Given the description of an element on the screen output the (x, y) to click on. 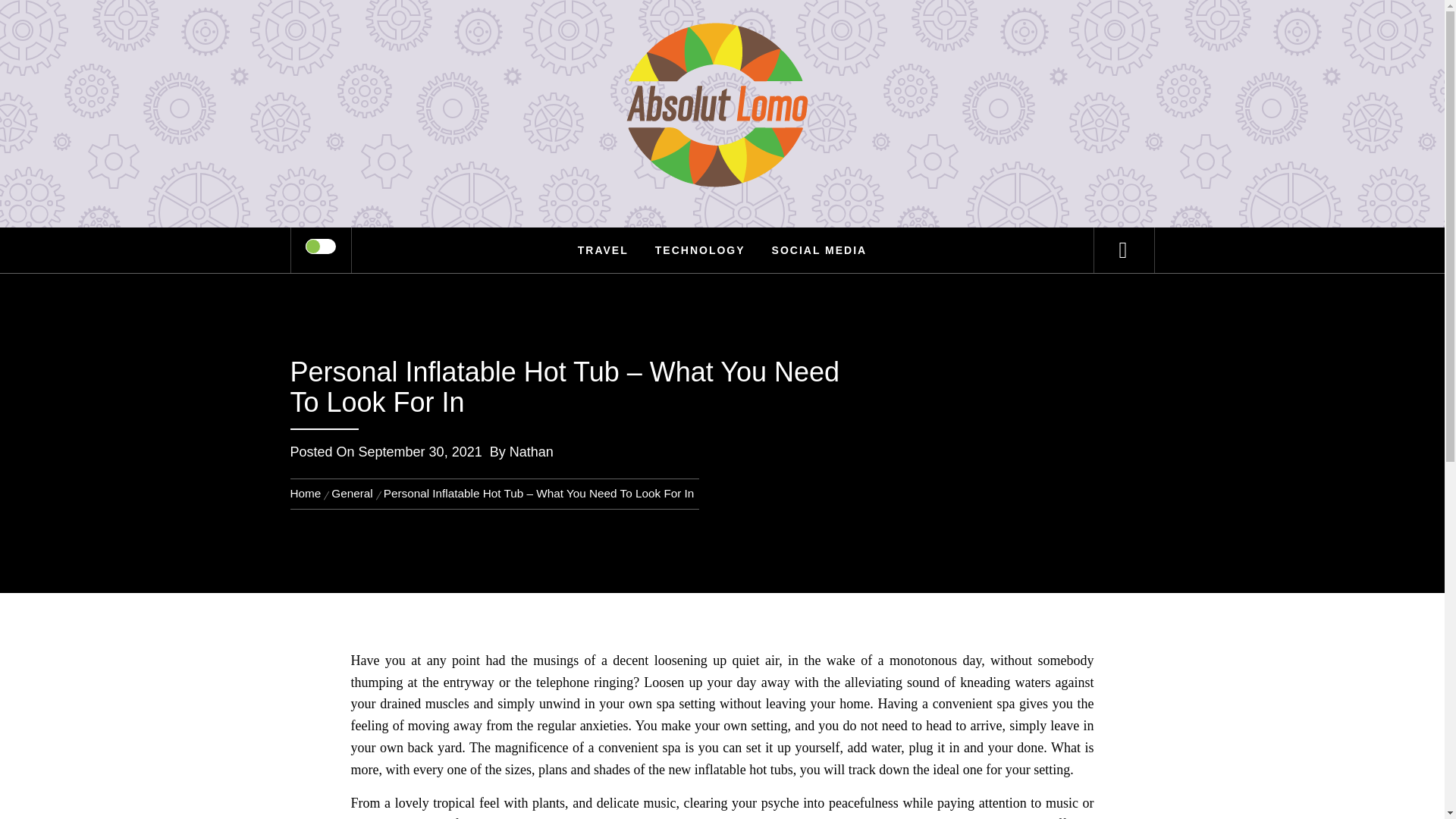
TECHNOLOGY (700, 249)
Search (797, 33)
General (351, 492)
ABSOLUT LOMO (721, 61)
SOCIAL MEDIA (819, 249)
Nathan (531, 451)
September 30, 2021 (419, 451)
Home (307, 492)
TRAVEL (603, 249)
